Given the description of an element on the screen output the (x, y) to click on. 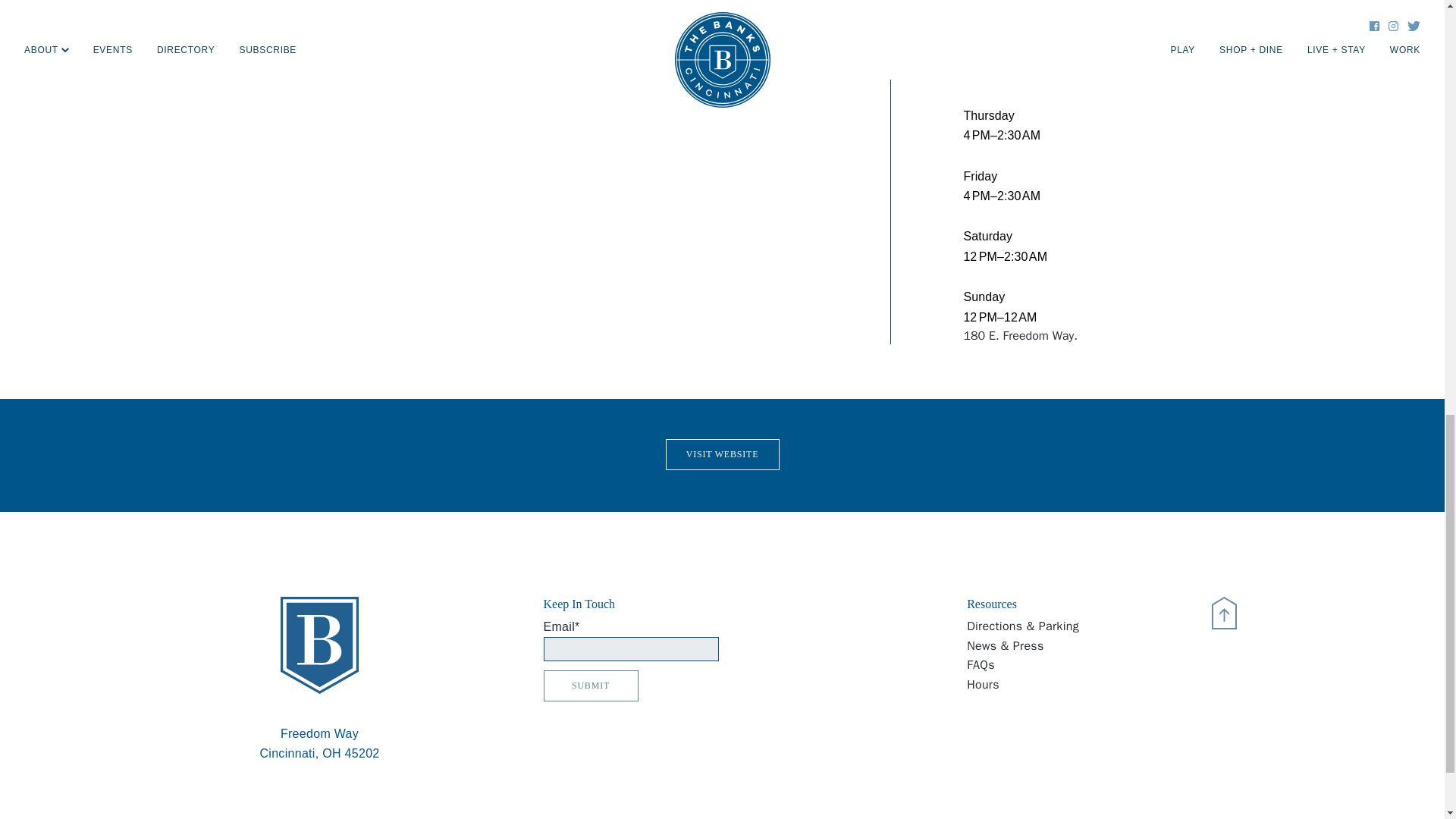
FAQs (1063, 665)
VISIT WEBSITE (721, 454)
SUBMIT (590, 685)
Hours (318, 736)
FAQs (1063, 685)
Hours (1063, 665)
